Given the description of an element on the screen output the (x, y) to click on. 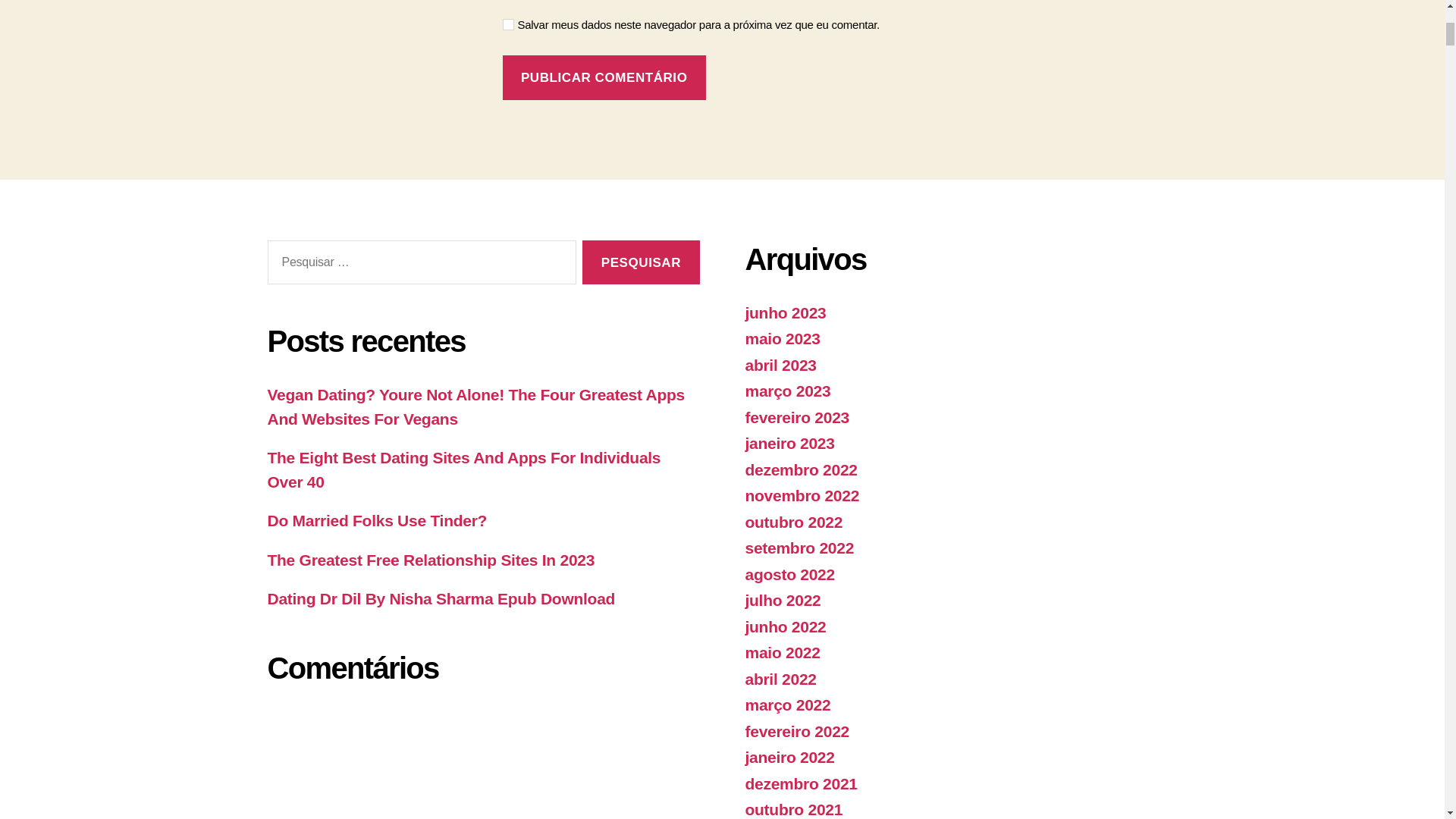
maio 2023 (781, 338)
outubro 2022 (793, 521)
novembro 2022 (801, 495)
fevereiro 2023 (796, 416)
The Eight Best Dating Sites And Apps For Individuals Over 40 (463, 469)
Pesquisar (640, 262)
junho 2023 (784, 312)
yes (507, 24)
Pesquisar (640, 262)
Do Married Folks Use Tinder? (376, 520)
Dating Dr Dil By Nisha Sharma Epub Download (440, 598)
abril 2023 (779, 364)
Pesquisar (640, 262)
The Greatest Free Relationship Sites In 2023 (430, 559)
